Given the description of an element on the screen output the (x, y) to click on. 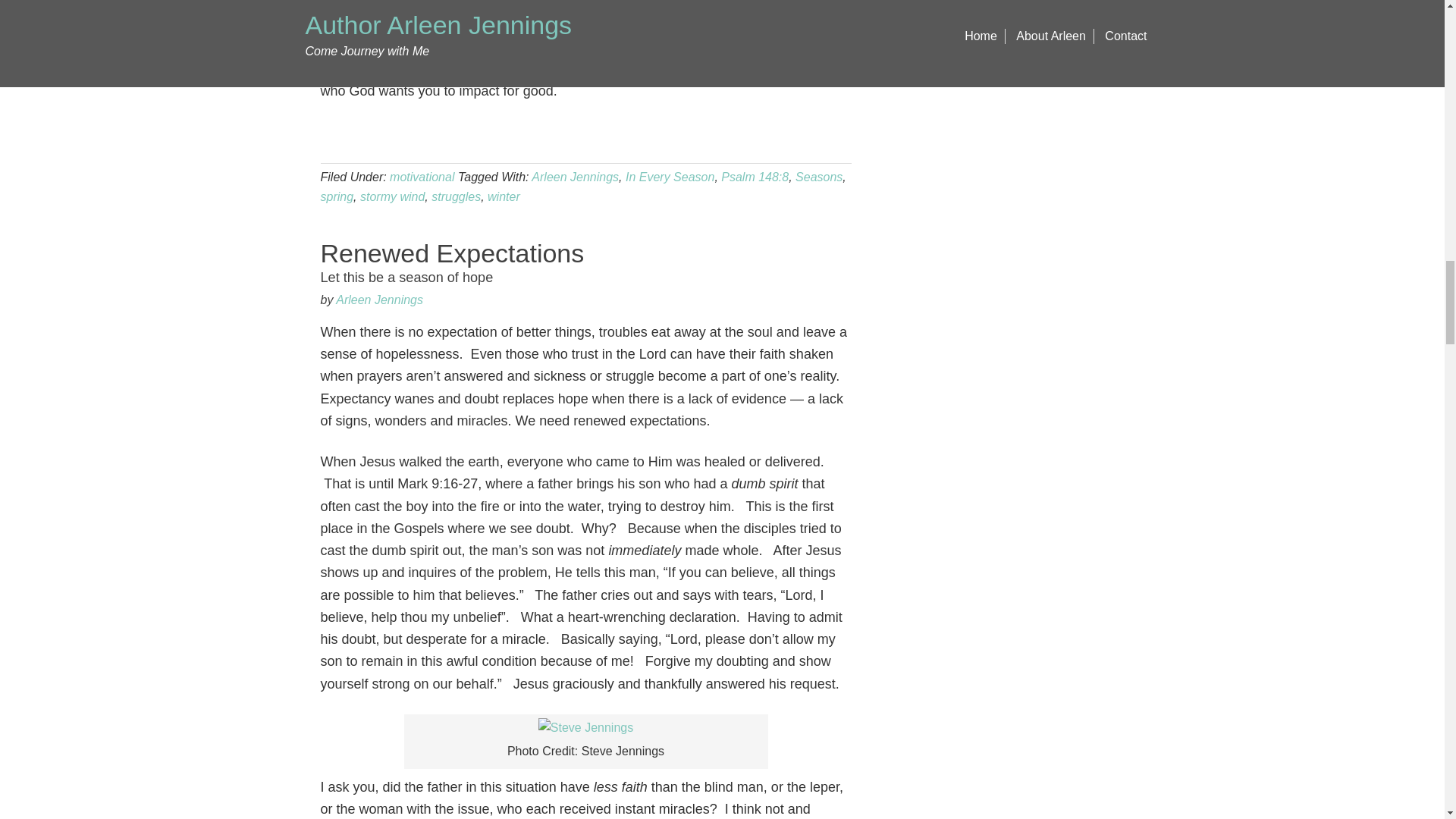
winter (503, 196)
spring (336, 196)
stormy wind (585, 262)
In Every Season (392, 196)
Psalm 148:8 (670, 176)
Seasons (754, 176)
Arleen Jennings (818, 176)
Arleen Jennings (574, 176)
motivational (379, 299)
struggles (422, 176)
